Given the description of an element on the screen output the (x, y) to click on. 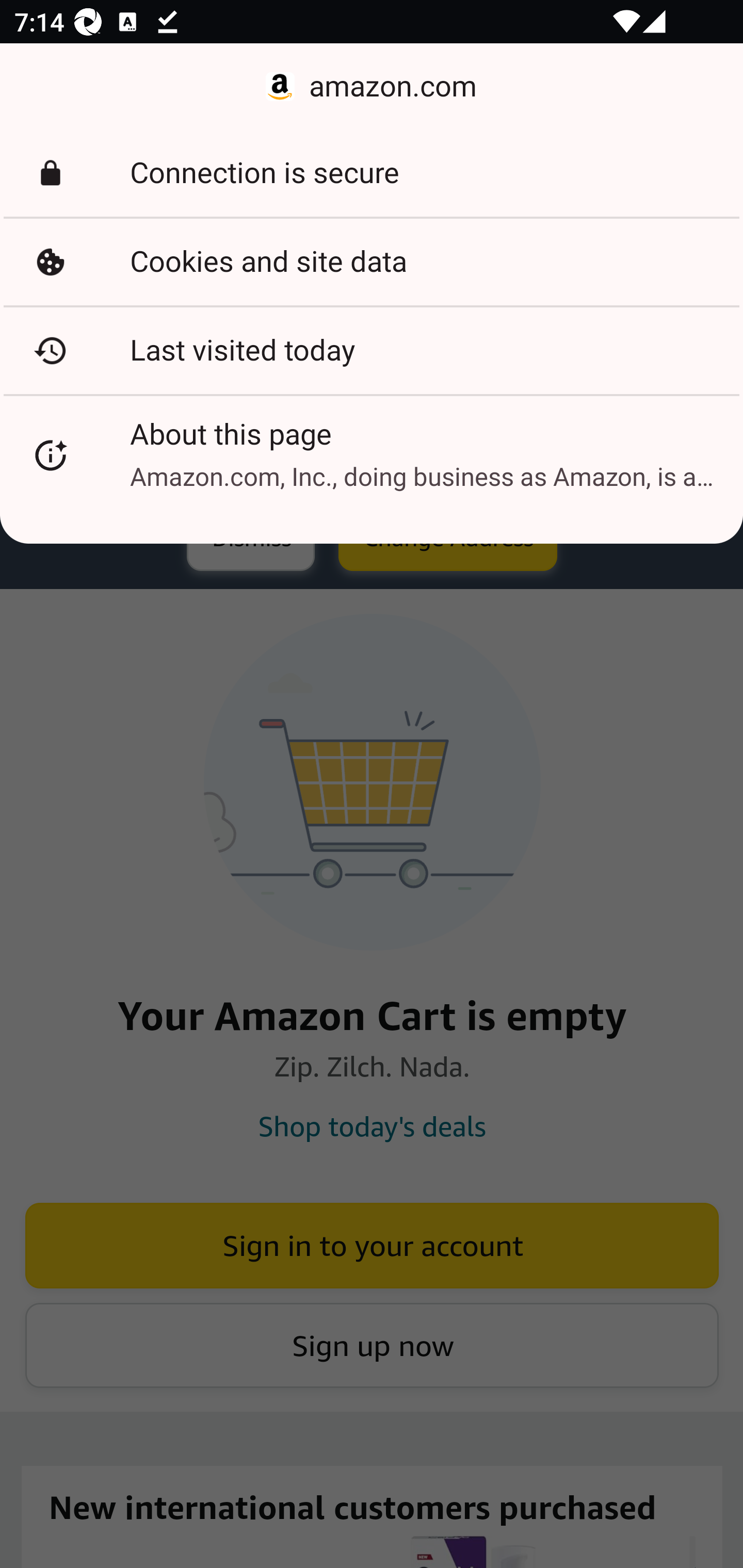
amazon.com (371, 86)
Connection is secure (371, 173)
Cookies and site data (371, 261)
Last visited today (371, 350)
